Given the description of an element on the screen output the (x, y) to click on. 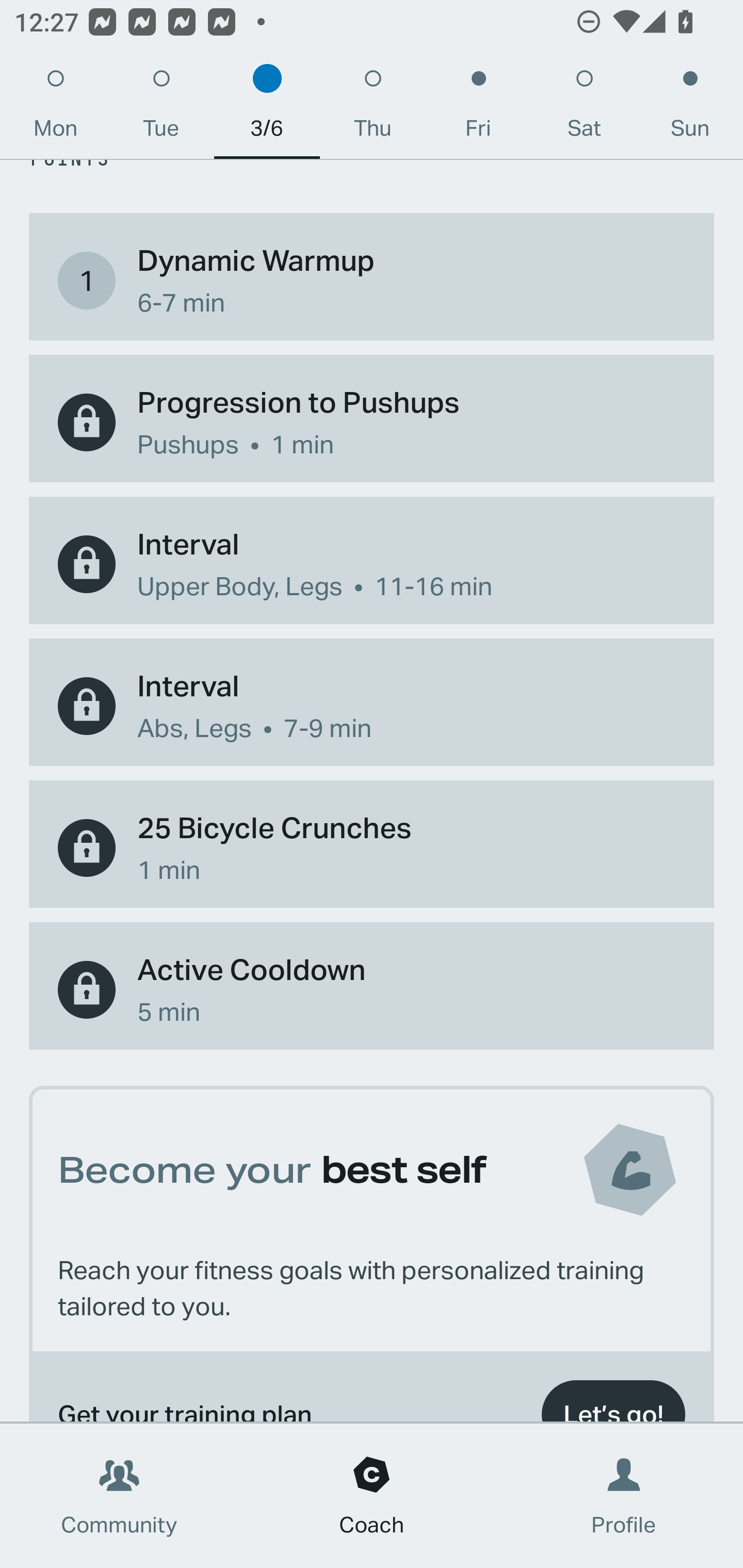
Mon (55, 108)
Tue (160, 108)
3/6 (266, 108)
Thu (372, 108)
Fri (478, 108)
Sat (584, 108)
Sun (690, 108)
1 Dynamic Warmup 6-7 min (371, 280)
Progression to Pushups Pushups  •  1 min (371, 422)
Interval Upper Body, Legs  •  11-16 min (371, 564)
Interval Abs, Legs  •  7-9 min (371, 706)
25 Bicycle Crunches 1 min (371, 847)
Active Cooldown 5 min (371, 990)
Community (119, 1495)
Profile (624, 1495)
